Given the description of an element on the screen output the (x, y) to click on. 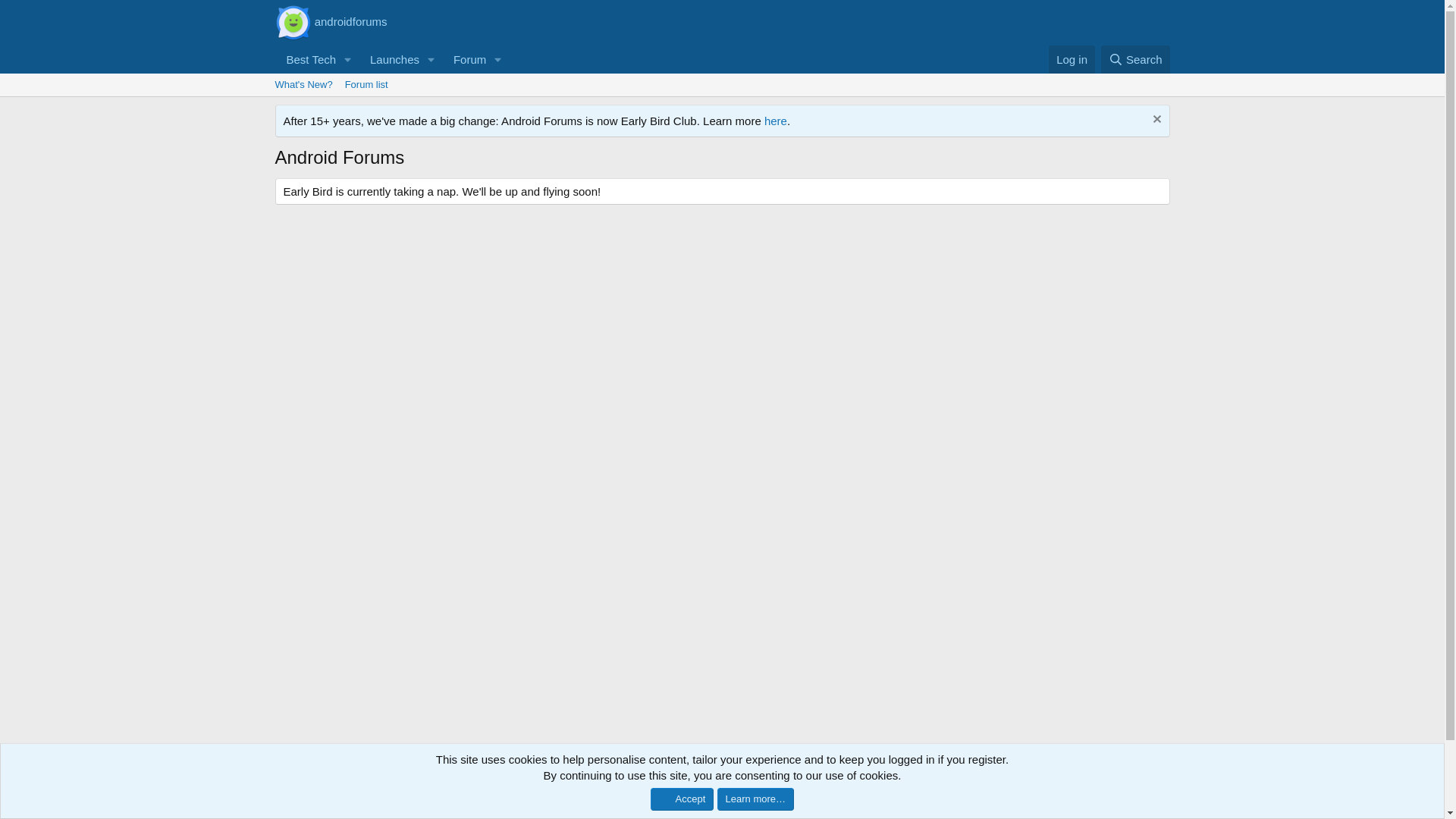
Forum list (366, 84)
What's New? (302, 84)
Forum (464, 59)
Best Tech (720, 101)
RSS (305, 59)
Log in (1161, 803)
Help (1071, 59)
Home (391, 76)
